Given the description of an element on the screen output the (x, y) to click on. 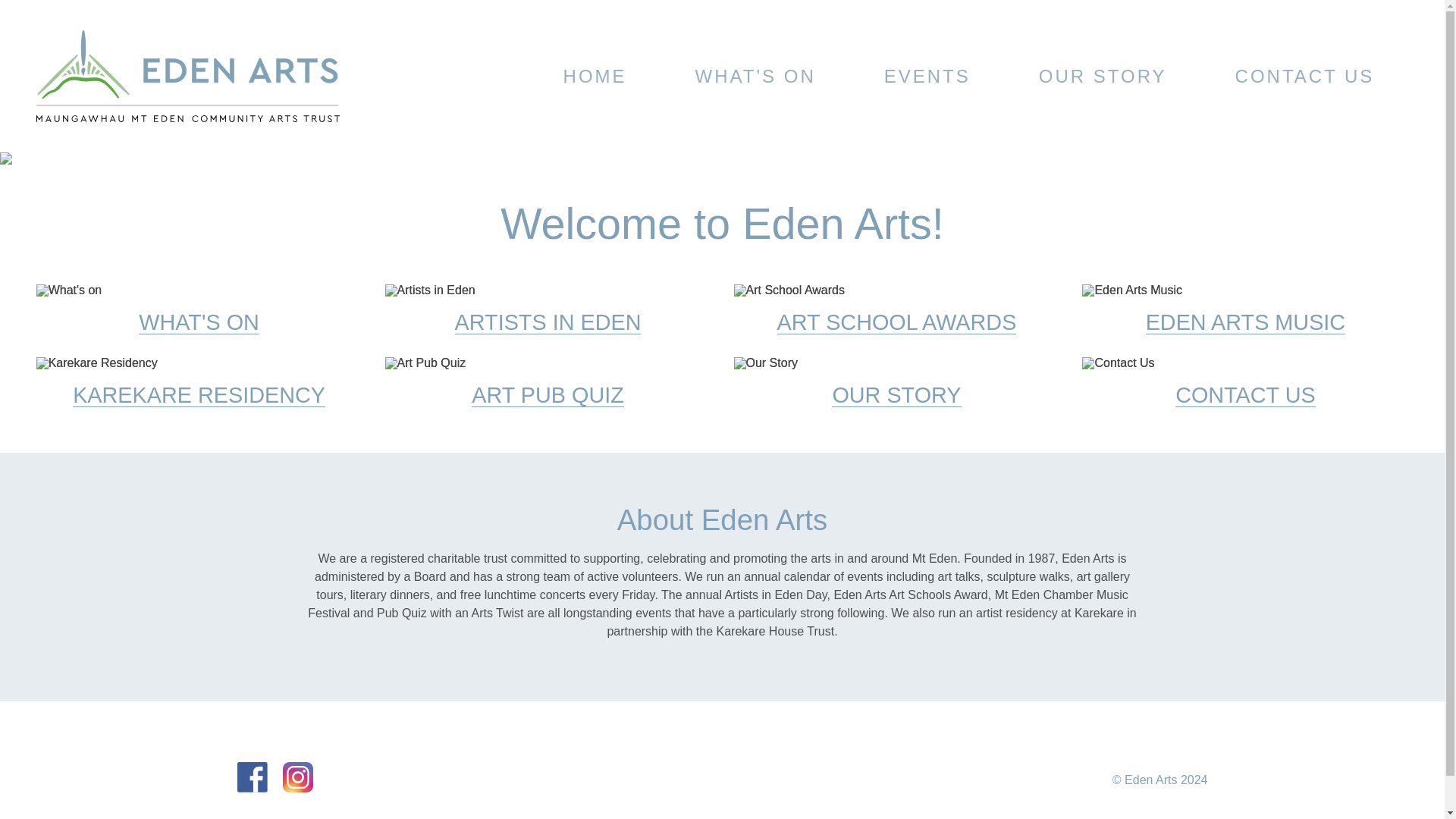
HOME (595, 76)
EDEN ARTS MUSIC (1244, 309)
CONTACT US (1305, 76)
KAREKARE RESIDENCY (199, 382)
OUR STORY (1102, 76)
CONTACT US (1244, 382)
ART SCHOOL AWARDS (896, 309)
WHAT'S ON (199, 309)
WHAT'S ON (755, 76)
EVENTS (927, 76)
